Given the description of an element on the screen output the (x, y) to click on. 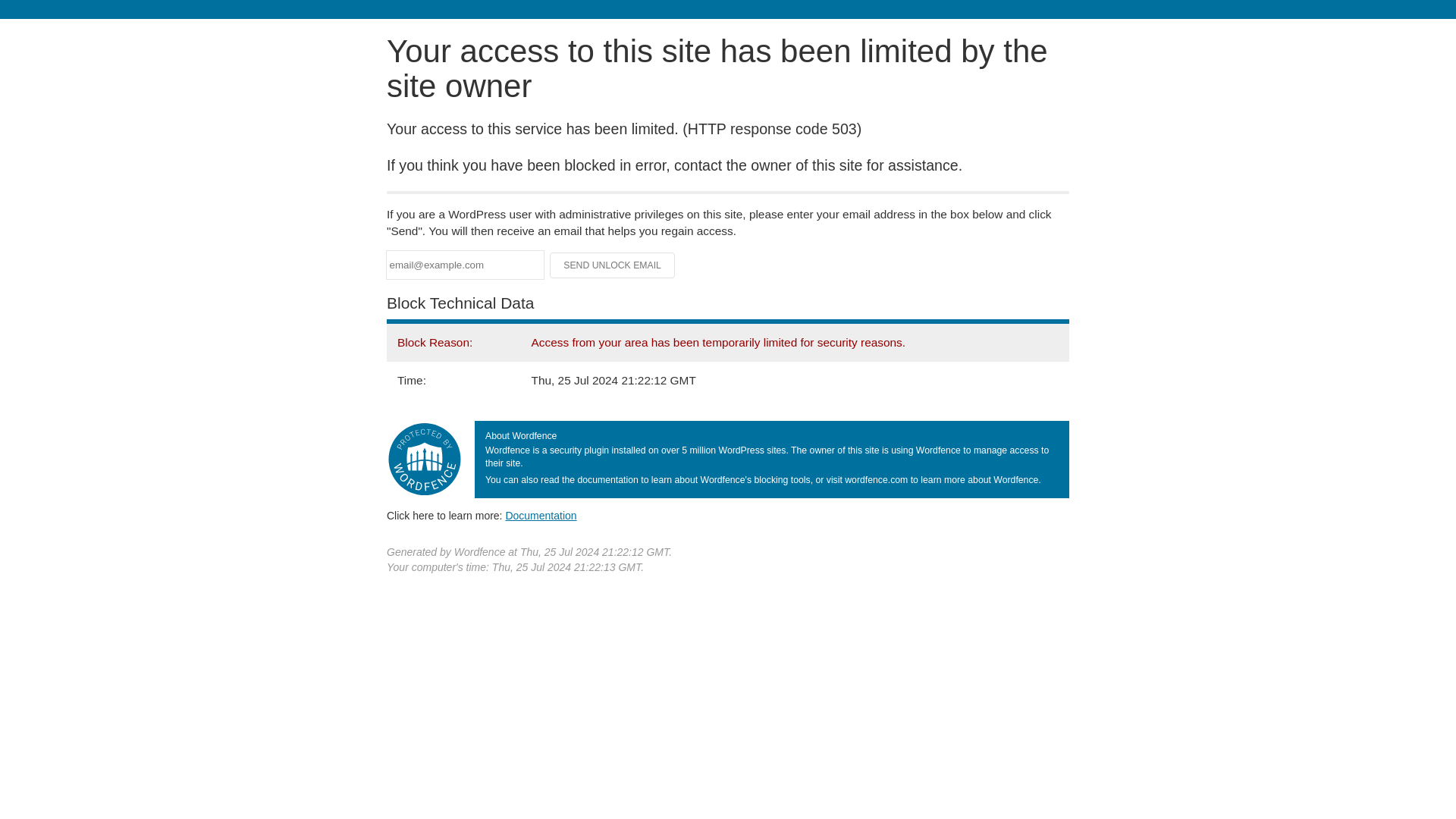
Send Unlock Email (612, 265)
Send Unlock Email (612, 265)
Documentation (540, 515)
